Given the description of an element on the screen output the (x, y) to click on. 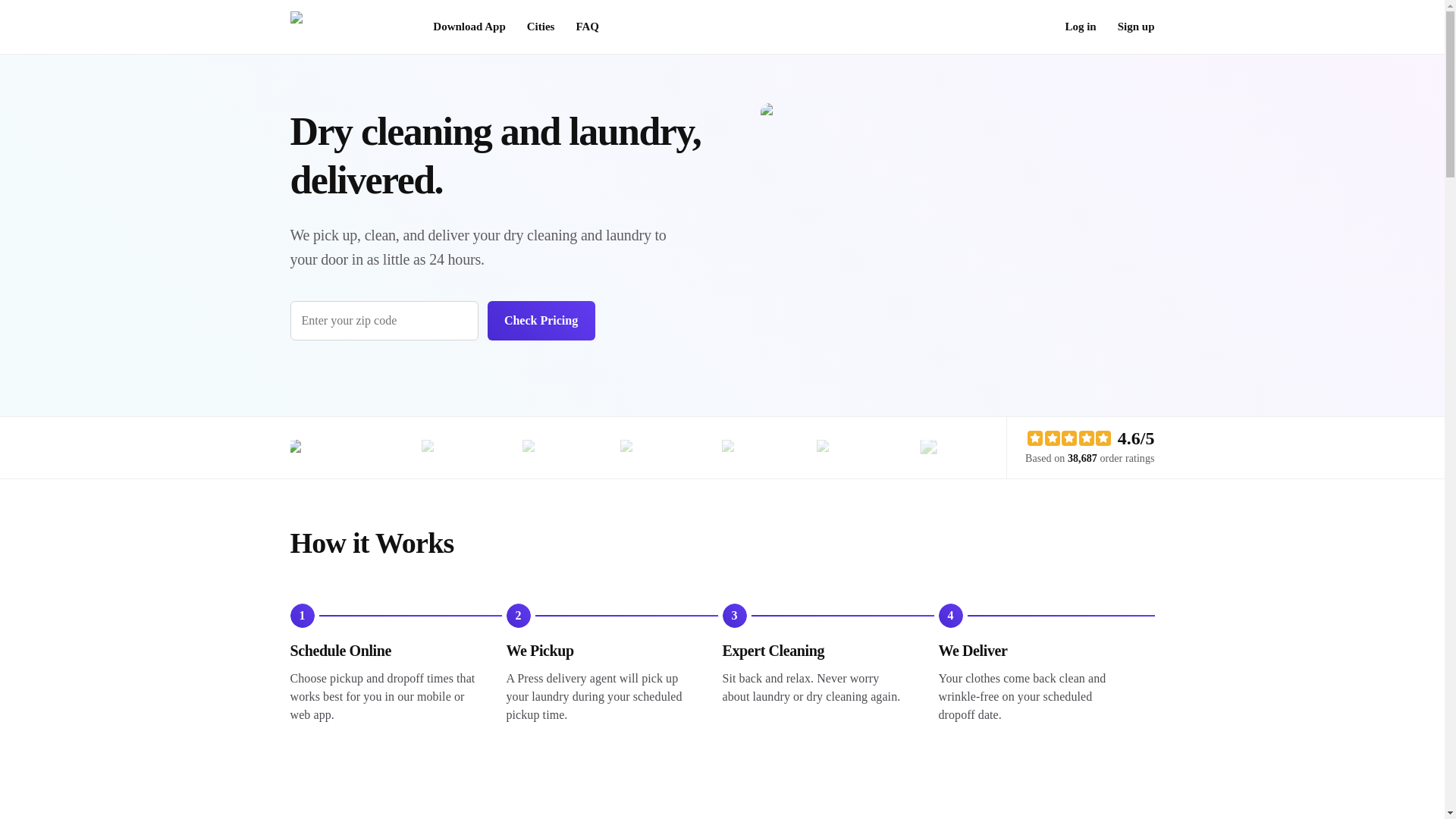
delivered. (365, 179)
Cities (540, 26)
Download App (468, 26)
Check Pricing (540, 320)
38,687 order ratings (1110, 458)
Sign up (1136, 26)
Log in (1080, 26)
